Given the description of an element on the screen output the (x, y) to click on. 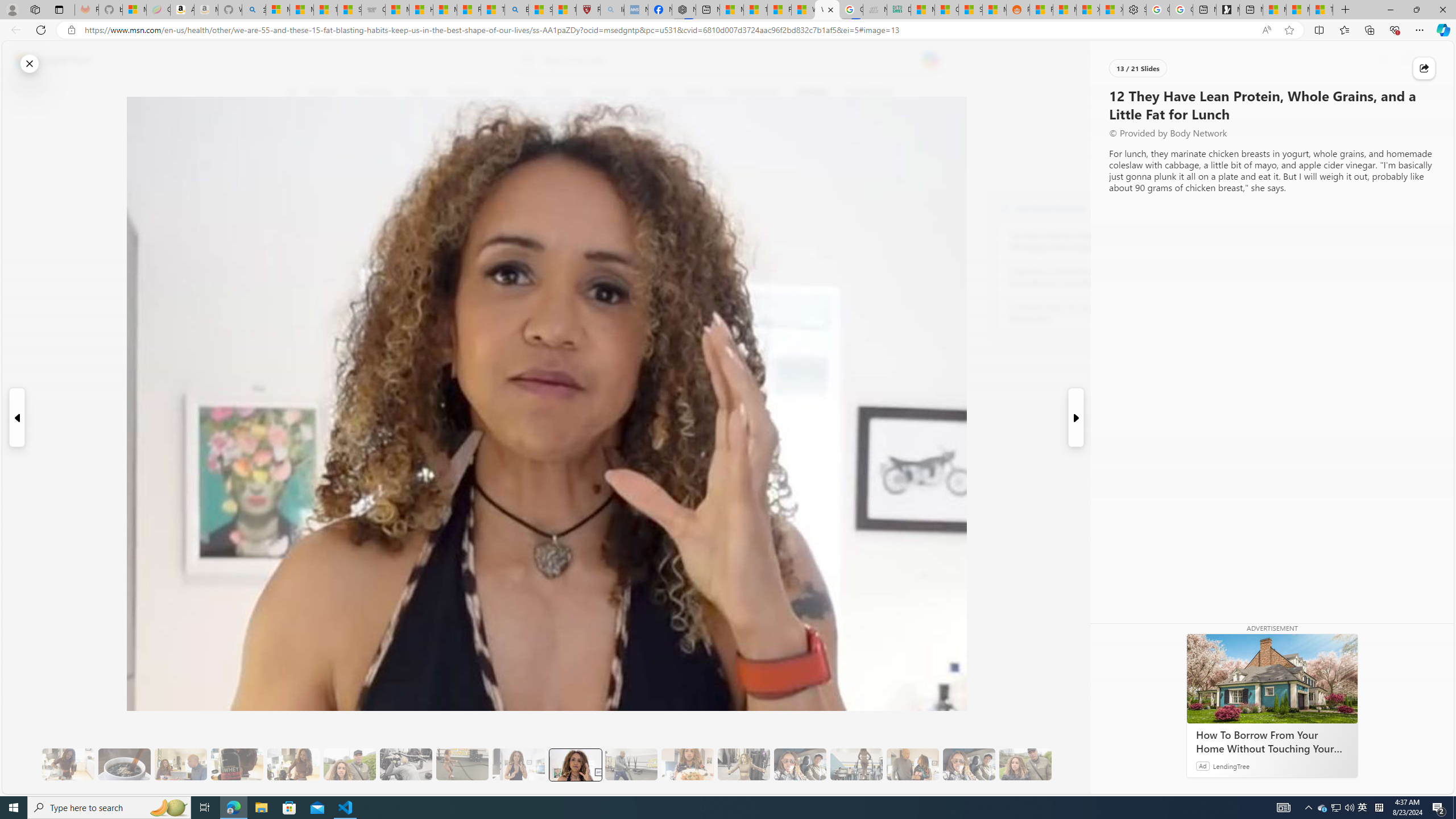
How I Got Rid of Microsoft Edge's Unnecessary Features (421, 9)
19 It Also Simplifies Thiings (968, 764)
15 They Also Indulge in a Low-Calorie Sweet Treat (743, 764)
19 It Also Simplifies Thiings (968, 764)
Class: at-item (299, 266)
News (419, 92)
Food & Drink (869, 92)
3 They Drink Lemon Tea (68, 764)
9 They Do Bench Exercises (406, 764)
Bing (515, 9)
